Given the description of an element on the screen output the (x, y) to click on. 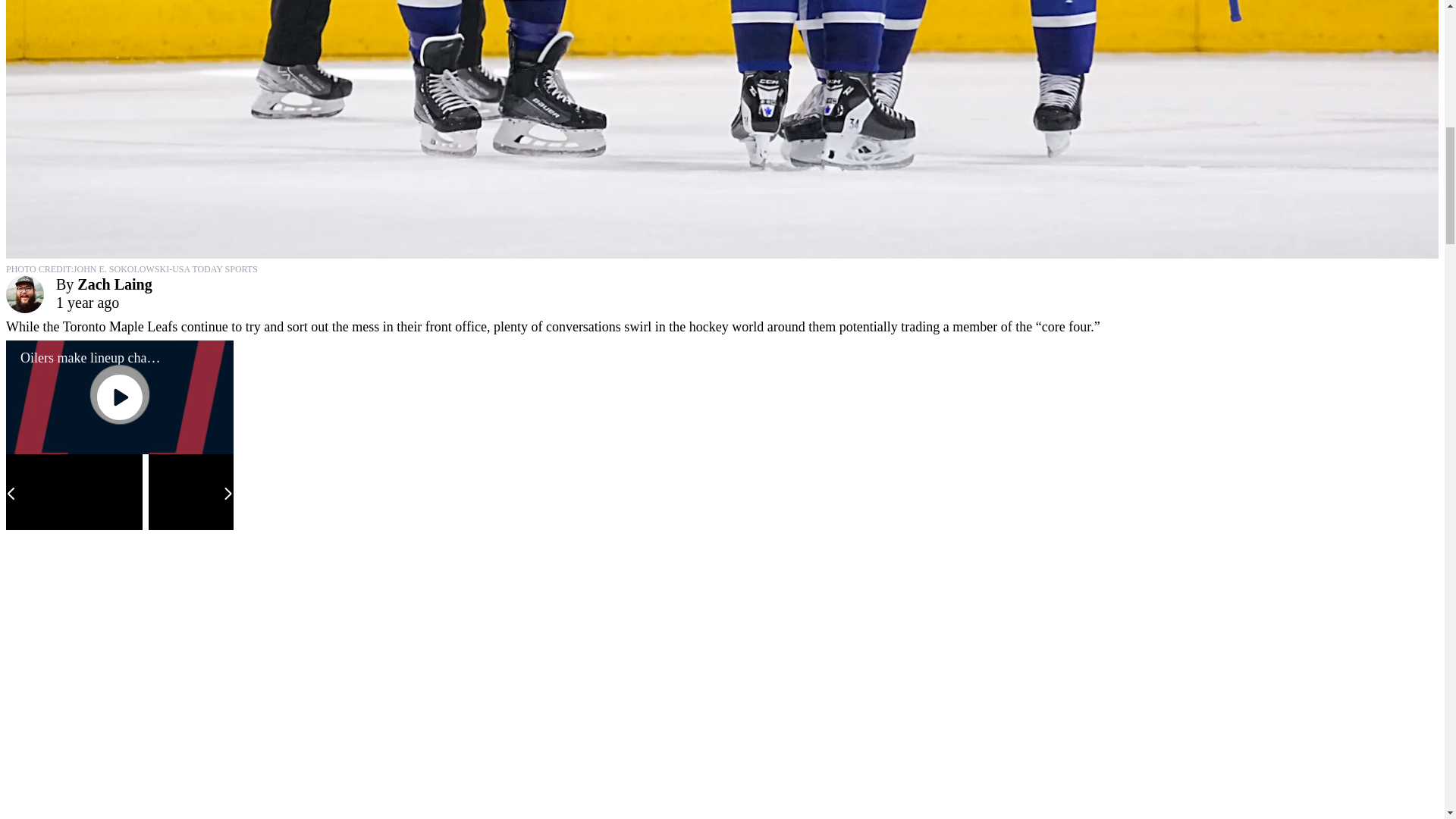
Zach Laing (114, 284)
